Given the description of an element on the screen output the (x, y) to click on. 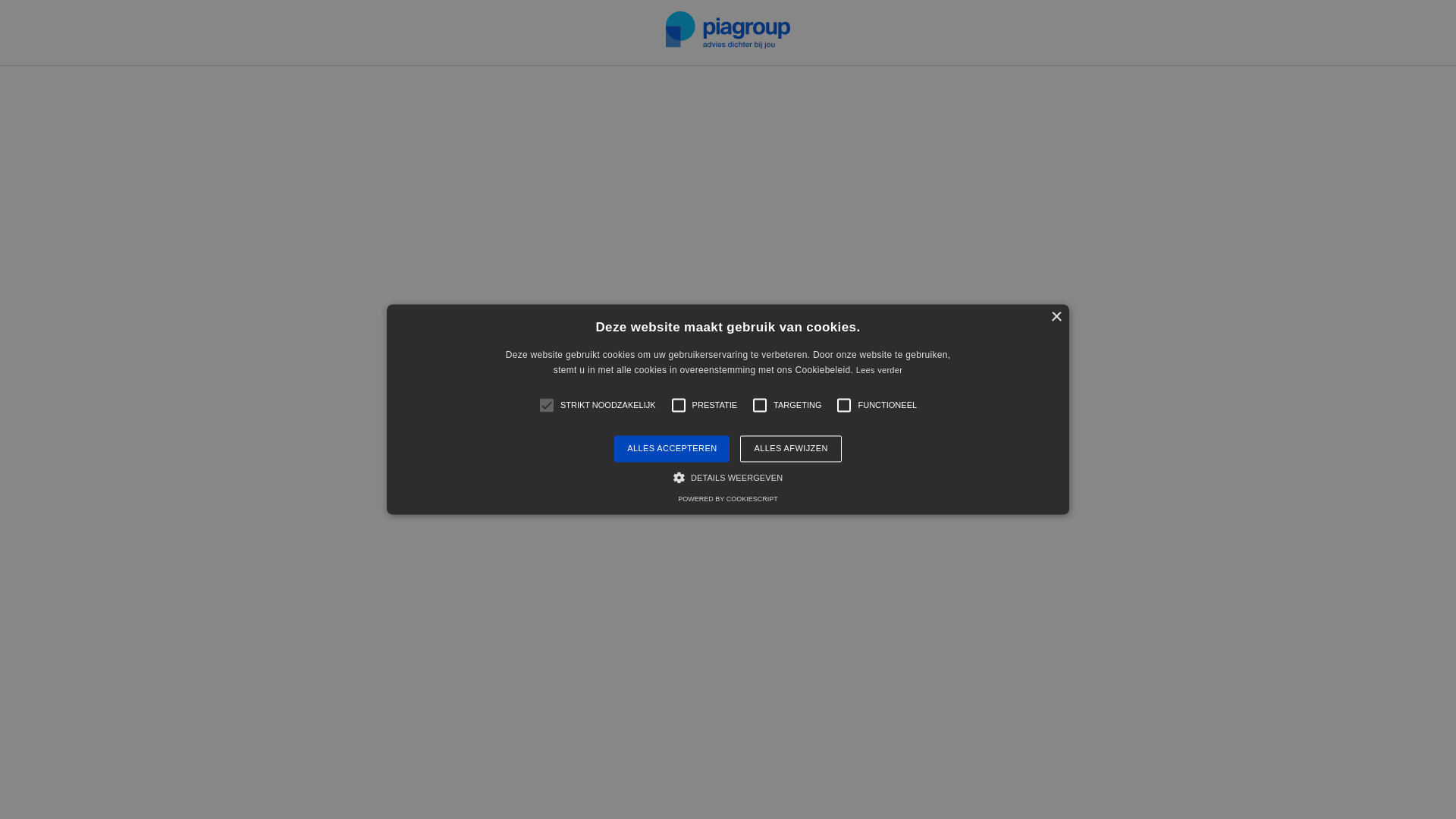
POWERED BY COOKIESCRIPT Element type: text (727, 499)
Lees verder Element type: text (879, 370)
Terug naar de homepage Element type: text (727, 496)
